Given the description of an element on the screen output the (x, y) to click on. 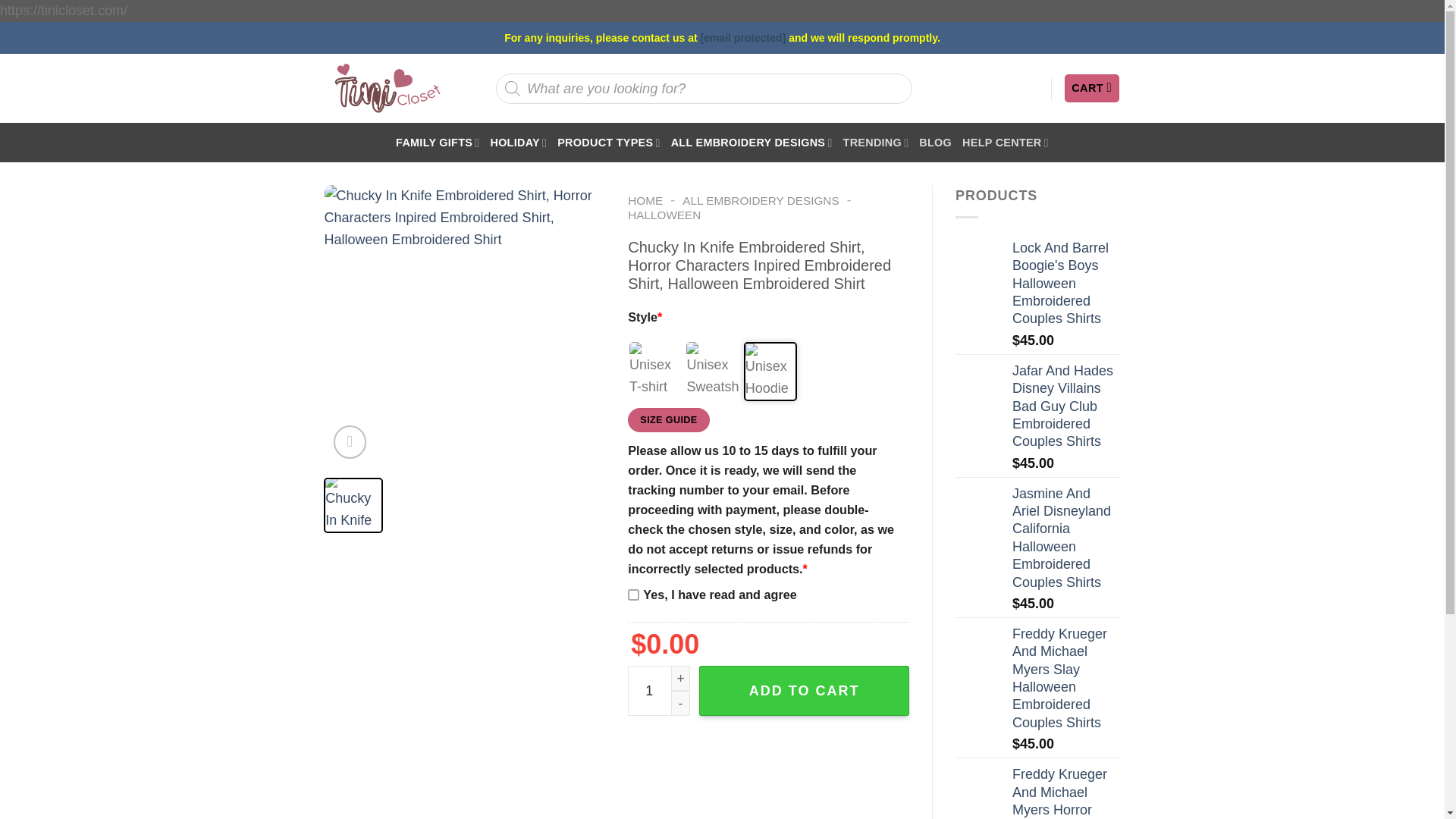
PRODUCT TYPES (608, 142)
ALL EMBROIDERY DESIGNS (751, 142)
Small Gifts Great Love (386, 88)
Cart (1091, 88)
HOLIDAY (518, 142)
CART (1091, 88)
1 (658, 690)
